Given the description of an element on the screen output the (x, y) to click on. 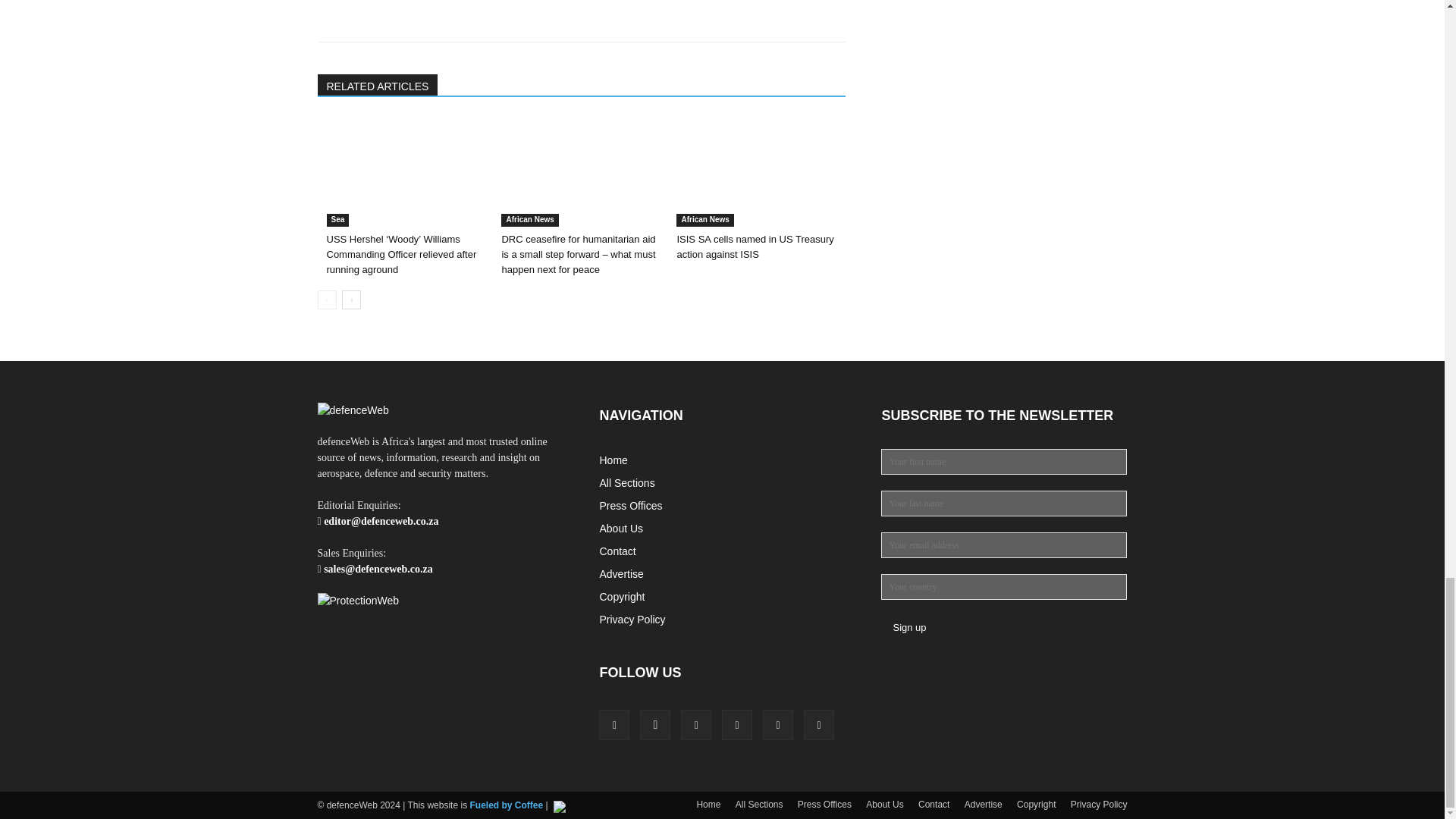
Sign up (908, 627)
